Given the description of an element on the screen output the (x, y) to click on. 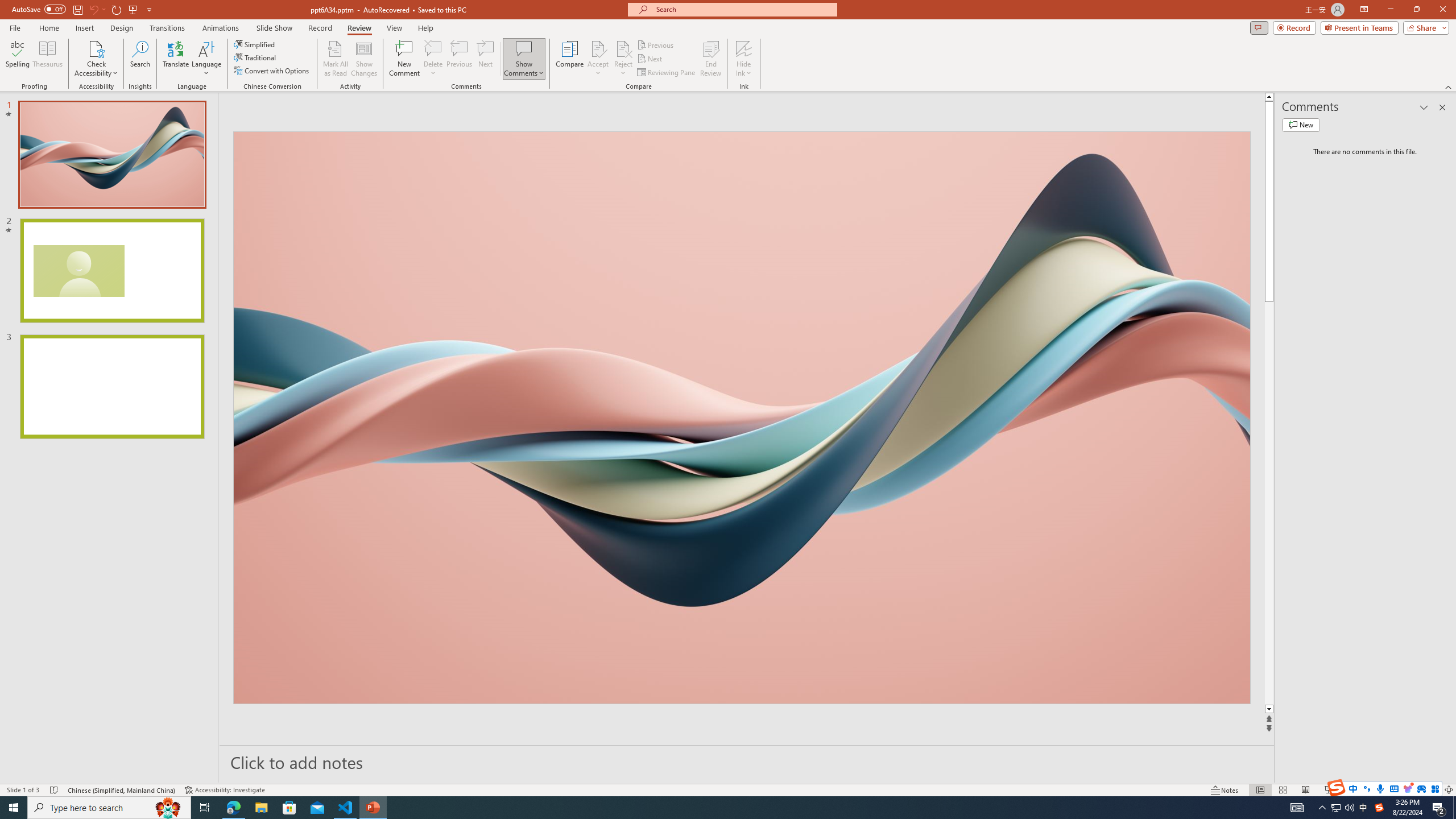
Reviewing Pane (666, 72)
Convert with Options... (272, 69)
Previous (655, 44)
